Given the description of an element on the screen output the (x, y) to click on. 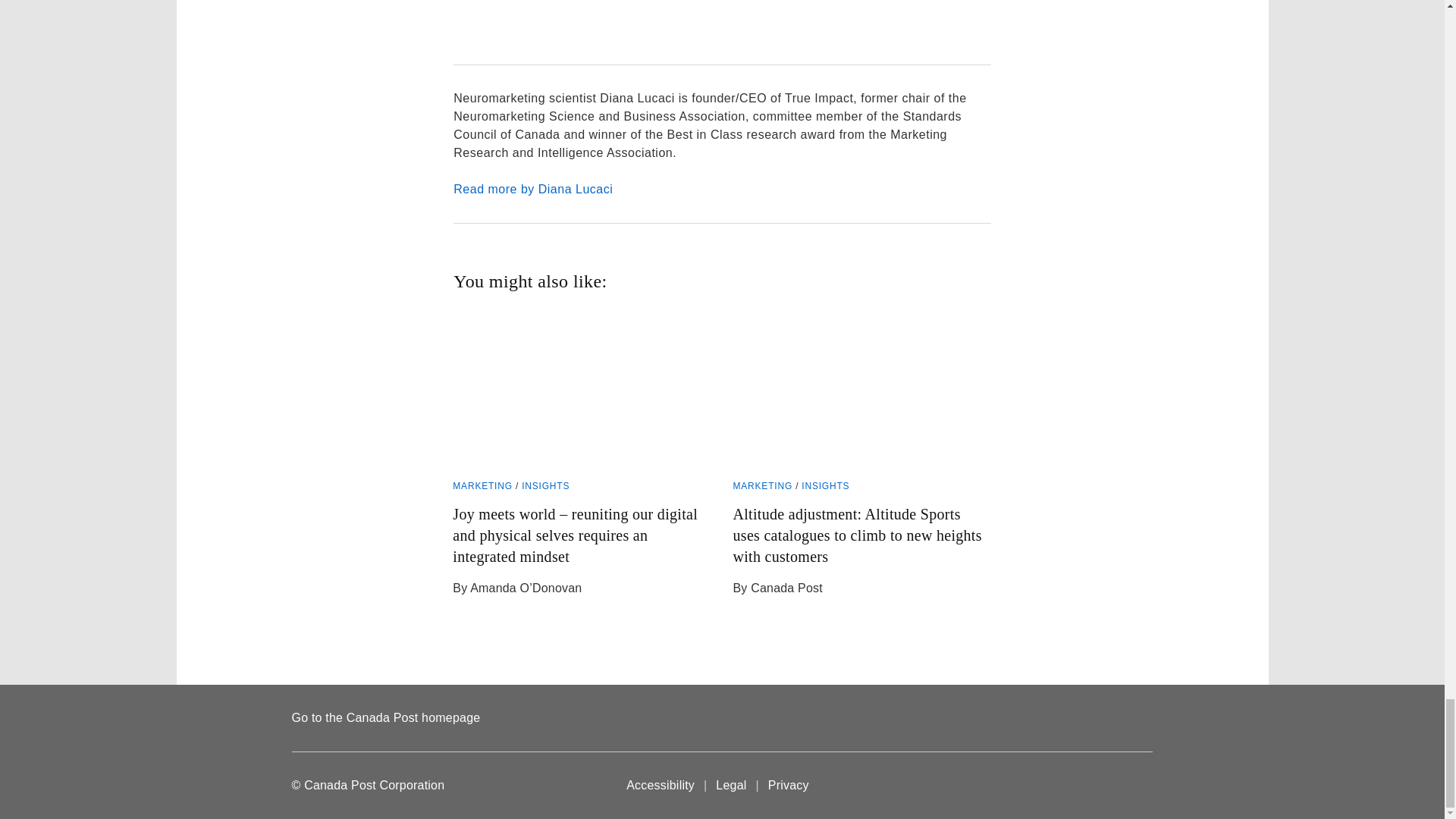
INSIGHTS (545, 485)
Read more by Diana Lucaci (721, 189)
MARKETING (482, 485)
Canada (1123, 784)
